Given the description of an element on the screen output the (x, y) to click on. 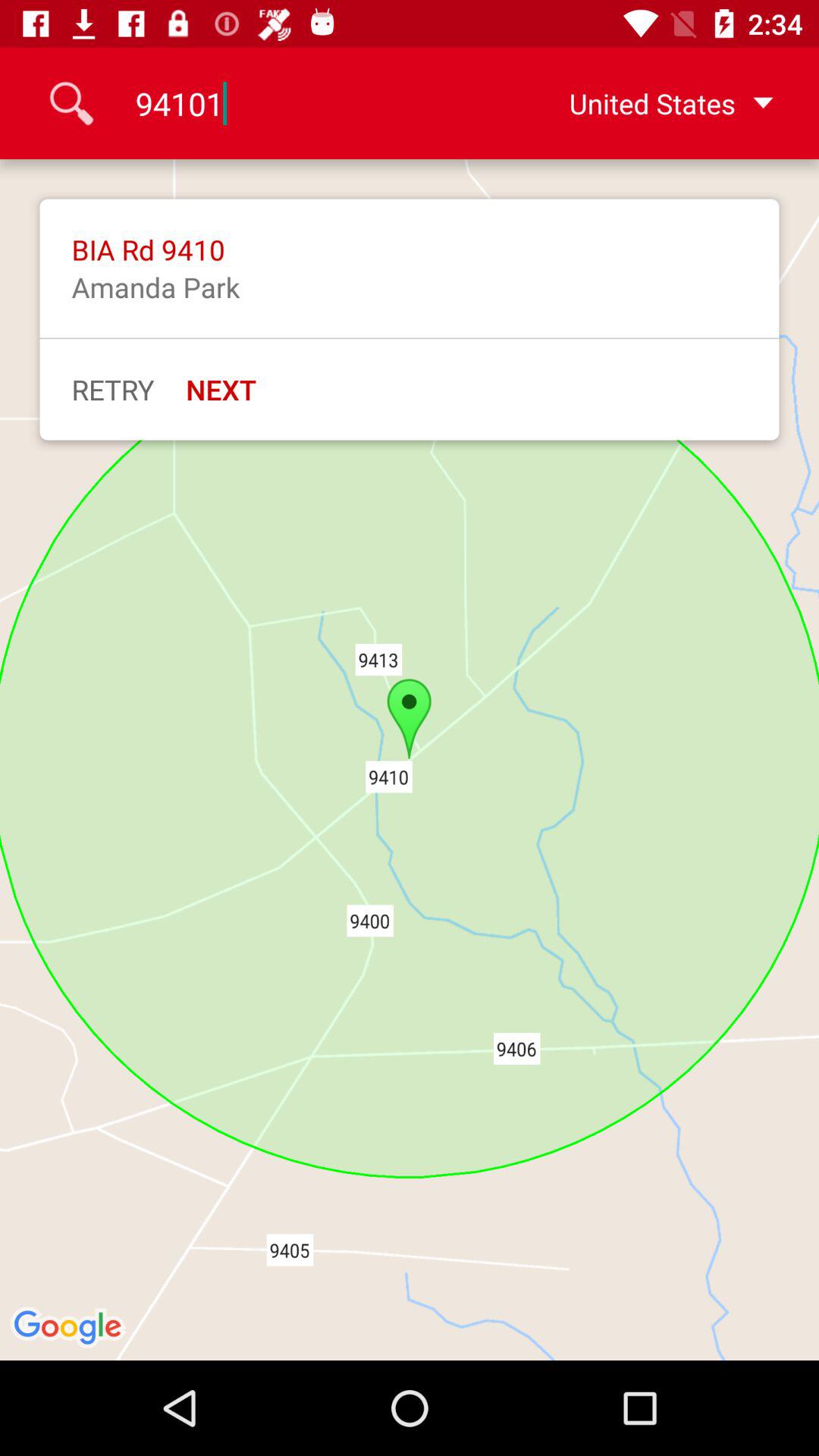
launch the united states at the top right corner (647, 103)
